Given the description of an element on the screen output the (x, y) to click on. 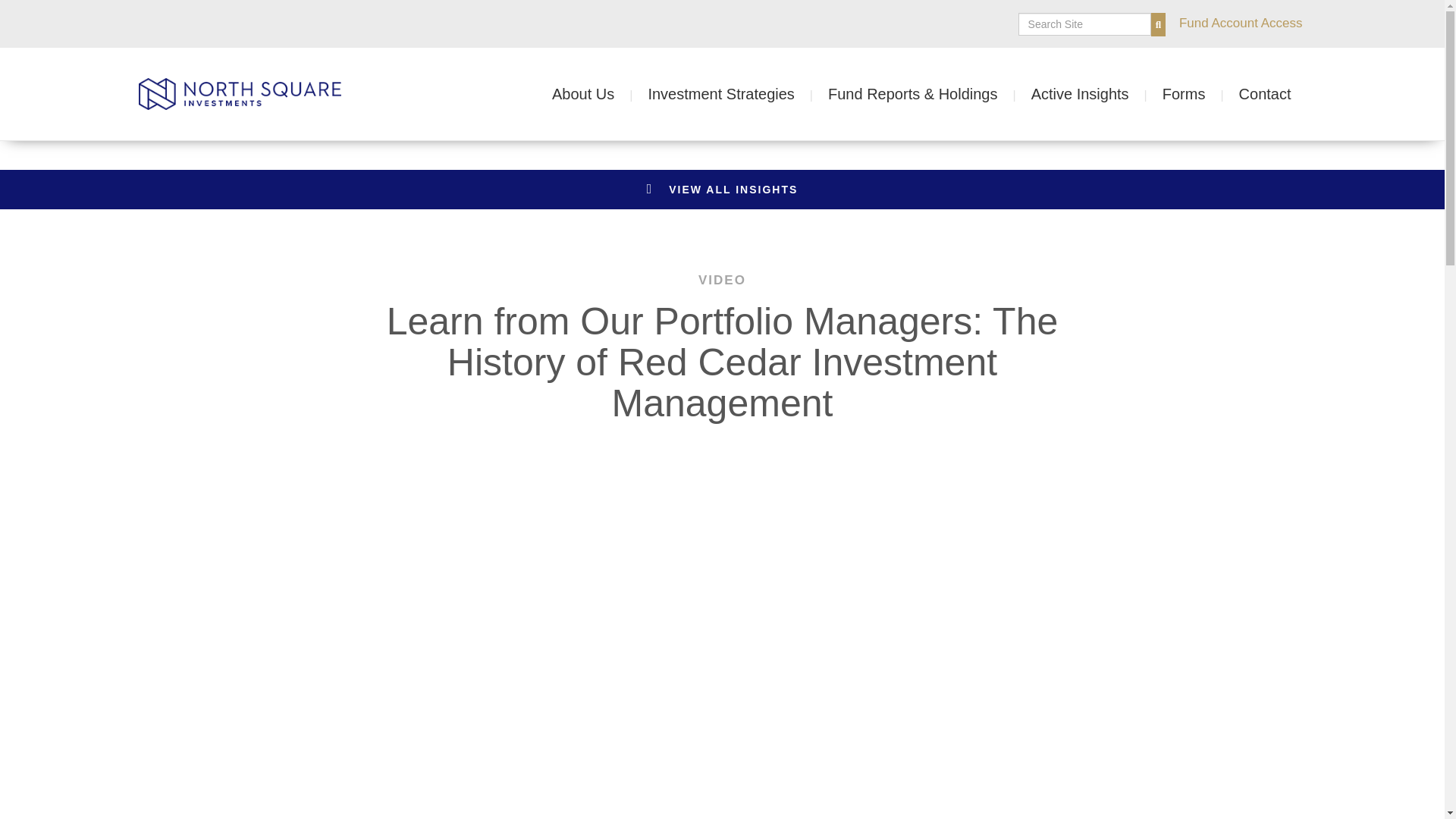
Contact (1265, 93)
Investment Strategies (737, 93)
 VIEW ALL INSIGHTS (721, 189)
About Us (599, 93)
Active Insights (1095, 93)
Forms (1200, 93)
Fund Account Access (1241, 19)
